Given the description of an element on the screen output the (x, y) to click on. 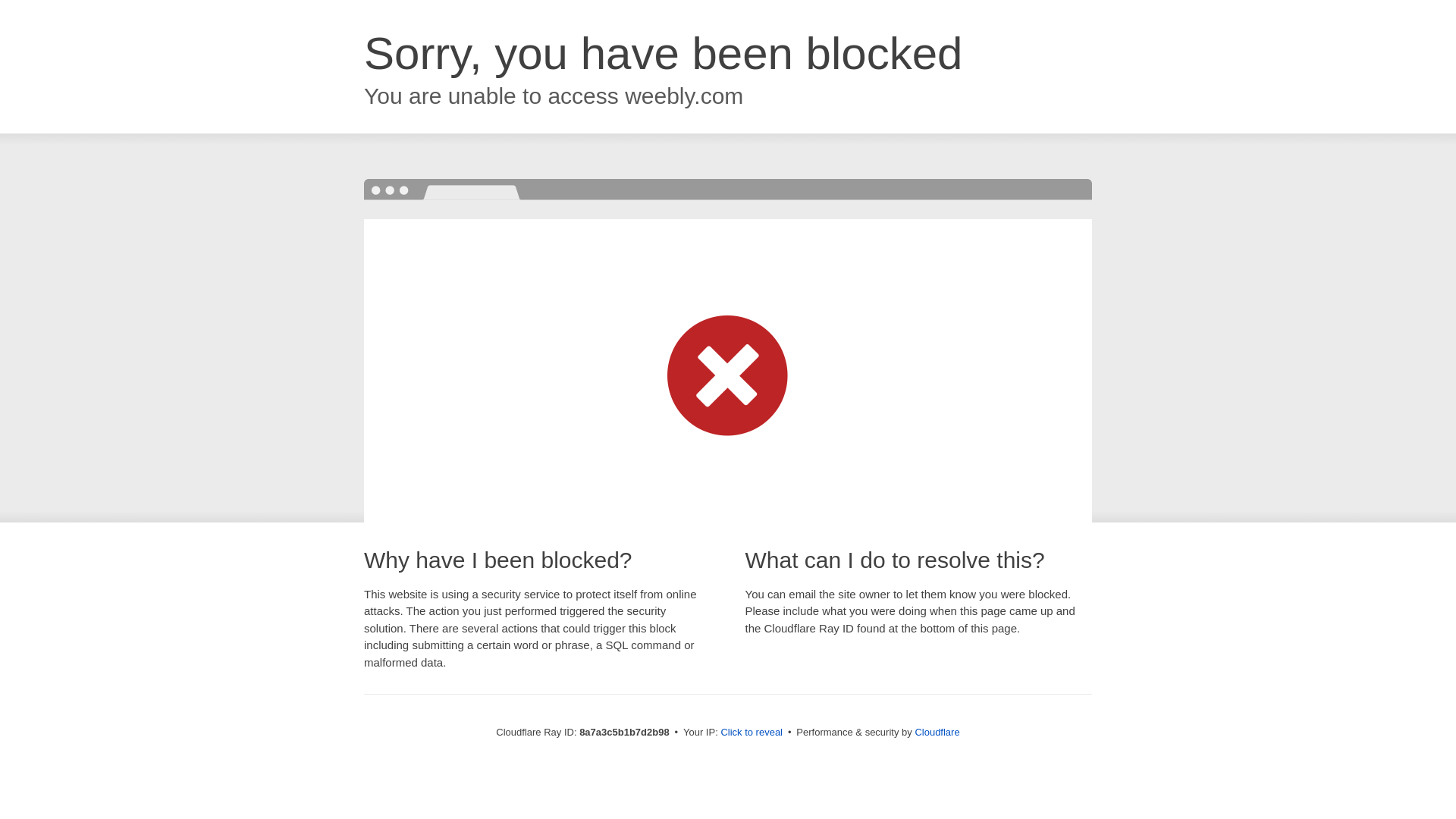
Cloudflare (936, 731)
Click to reveal (751, 732)
